Given the description of an element on the screen output the (x, y) to click on. 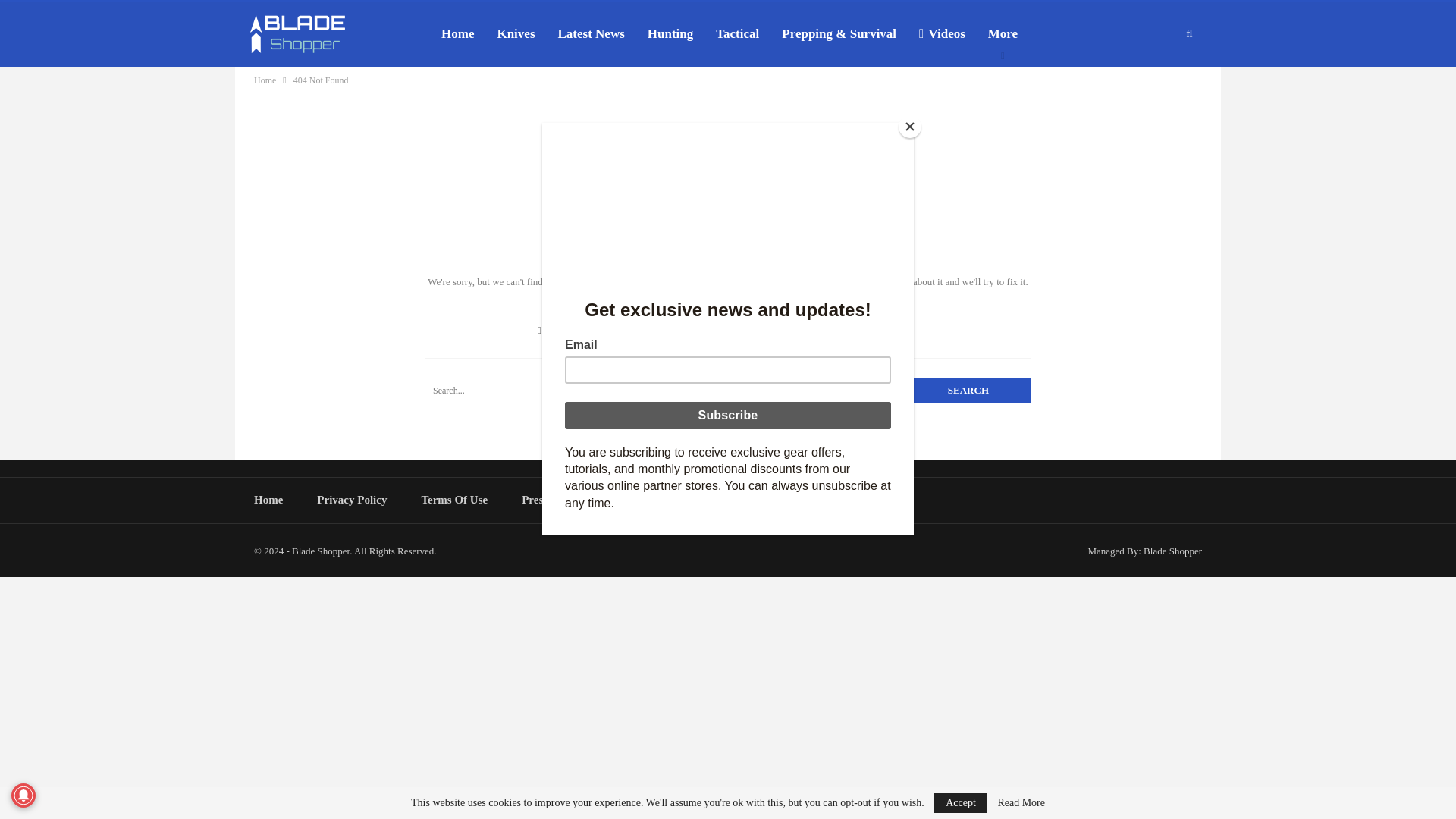
Contact (721, 499)
Blade Shopper (1172, 550)
Search (967, 390)
Terms Of Use (453, 499)
Search (967, 390)
Go to Homepage (575, 329)
Search for: (727, 390)
Latest News (590, 34)
Press Release (553, 499)
Privacy Policy (352, 499)
Advertise (644, 499)
Home (267, 499)
Home (264, 80)
Search (967, 390)
